Given the description of an element on the screen output the (x, y) to click on. 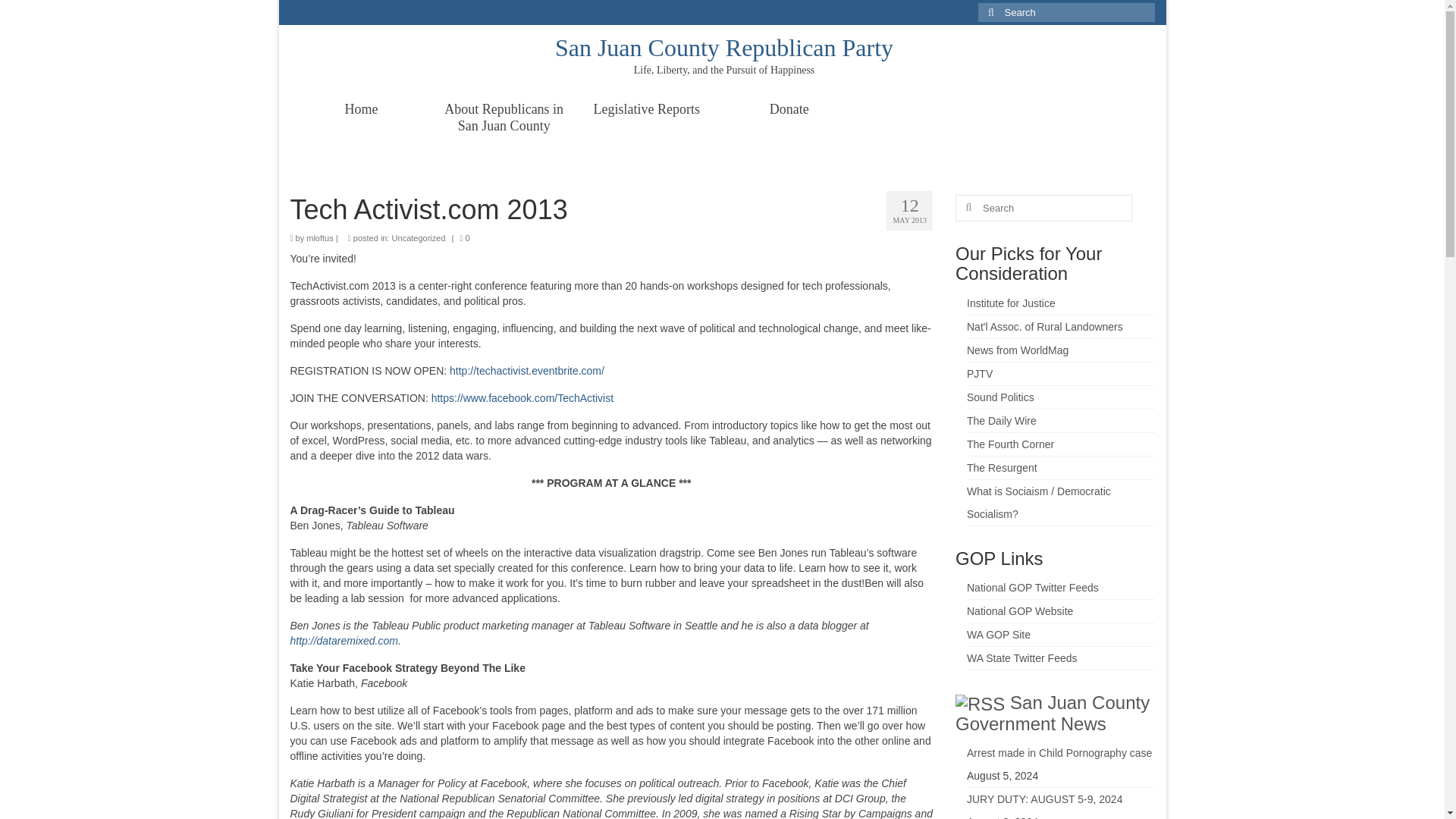
Legislative Reports (646, 109)
The Daily Wire (1001, 420)
Sound Politics (999, 397)
Nat'l Assoc. of Rural Landowners (1044, 326)
Uncategorized (418, 237)
About Republicans in San Juan County (503, 117)
WA GOP Site (998, 634)
national conservative activist group (1010, 303)
WA State Twitter Feeds (1021, 657)
PJTV (979, 373)
